Given the description of an element on the screen output the (x, y) to click on. 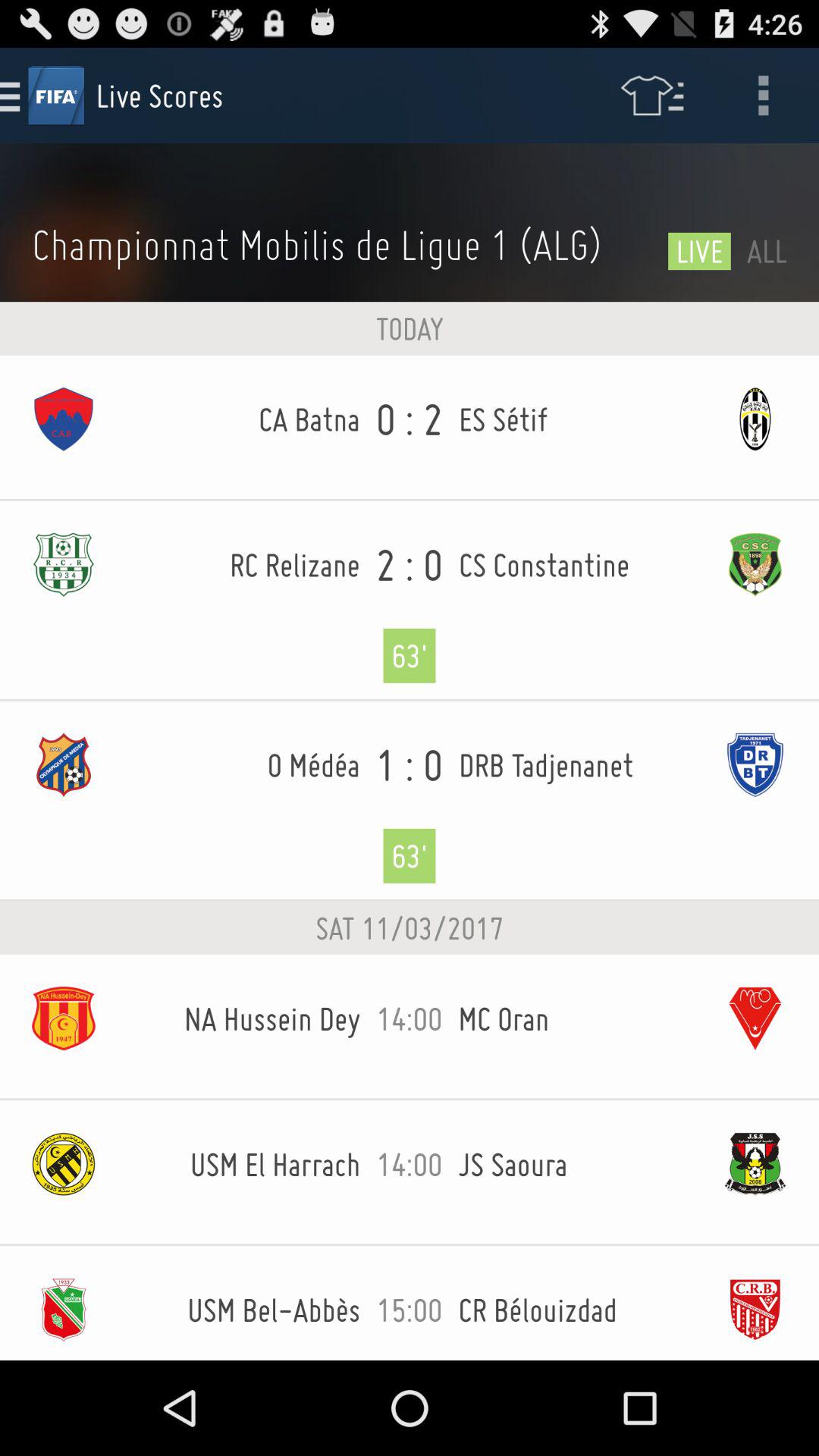
open icon to the right of the 0 : 2 icon (574, 418)
